Given the description of an element on the screen output the (x, y) to click on. 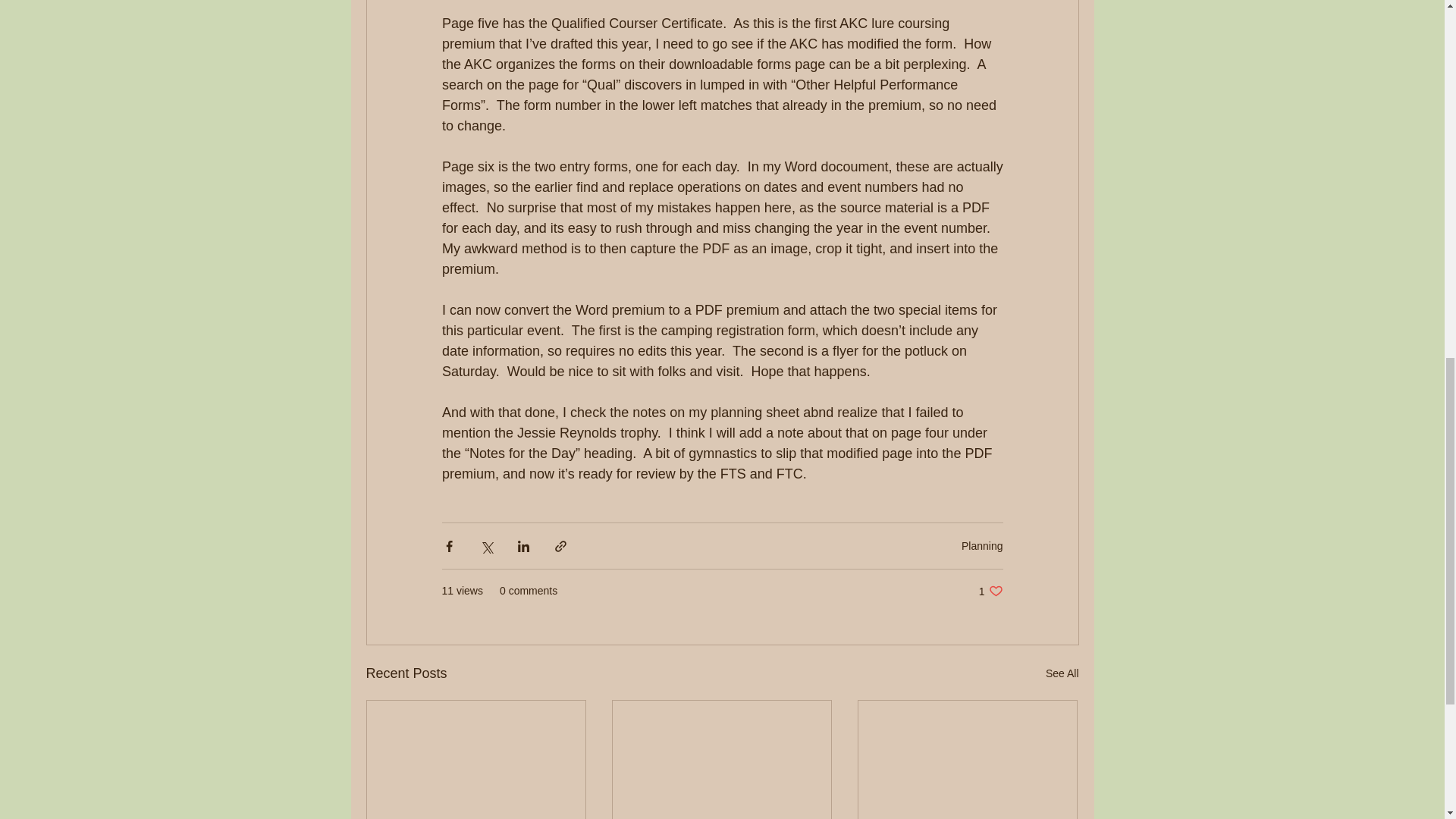
Planning (981, 545)
See All (1061, 673)
